Given the description of an element on the screen output the (x, y) to click on. 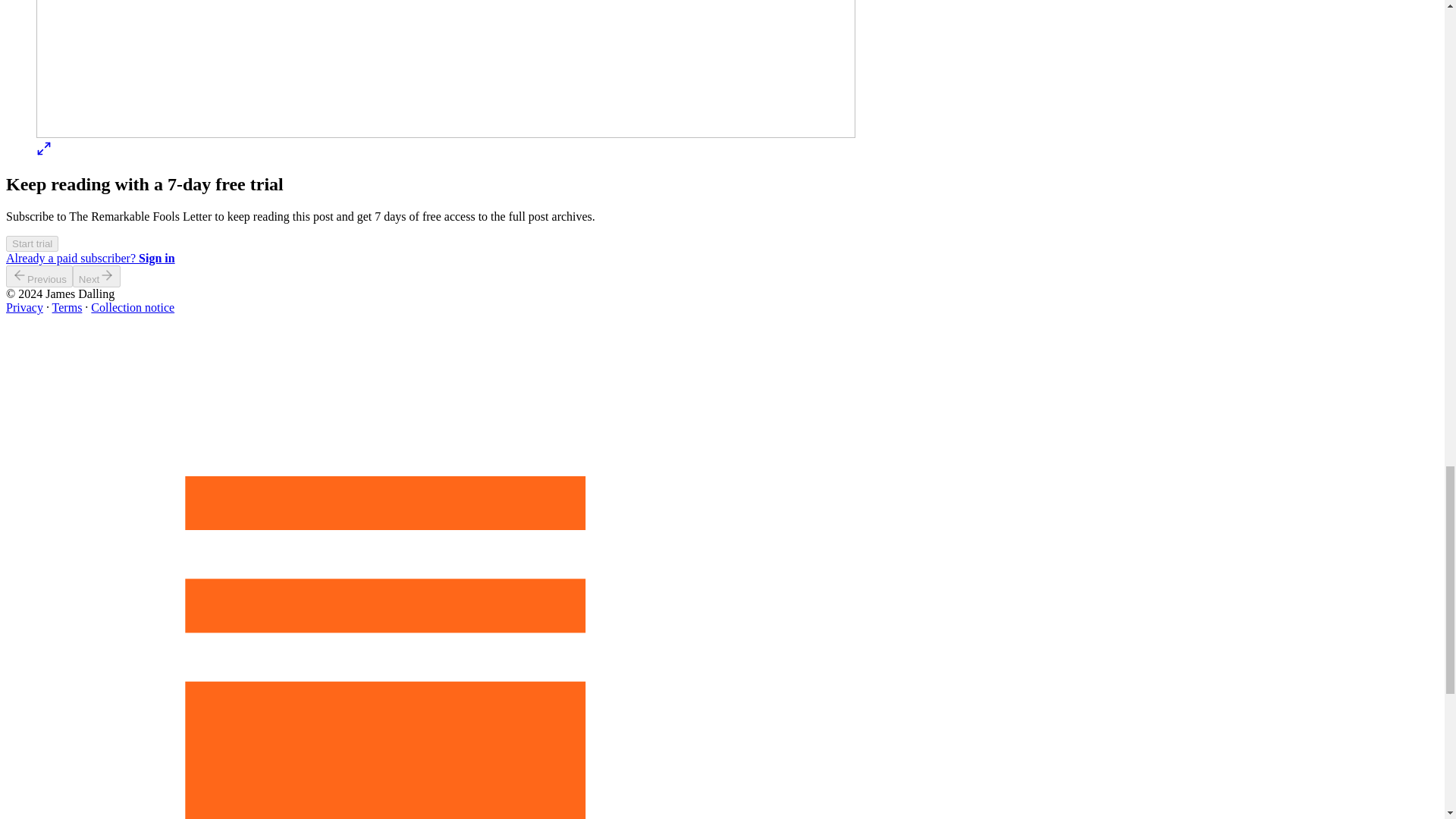
Privacy (24, 307)
Start trial (31, 242)
Next (96, 276)
Collection notice (132, 307)
Start trial (31, 243)
Previous (38, 276)
Terms (67, 307)
Already a paid subscriber? Sign in (89, 257)
